Given the description of an element on the screen output the (x, y) to click on. 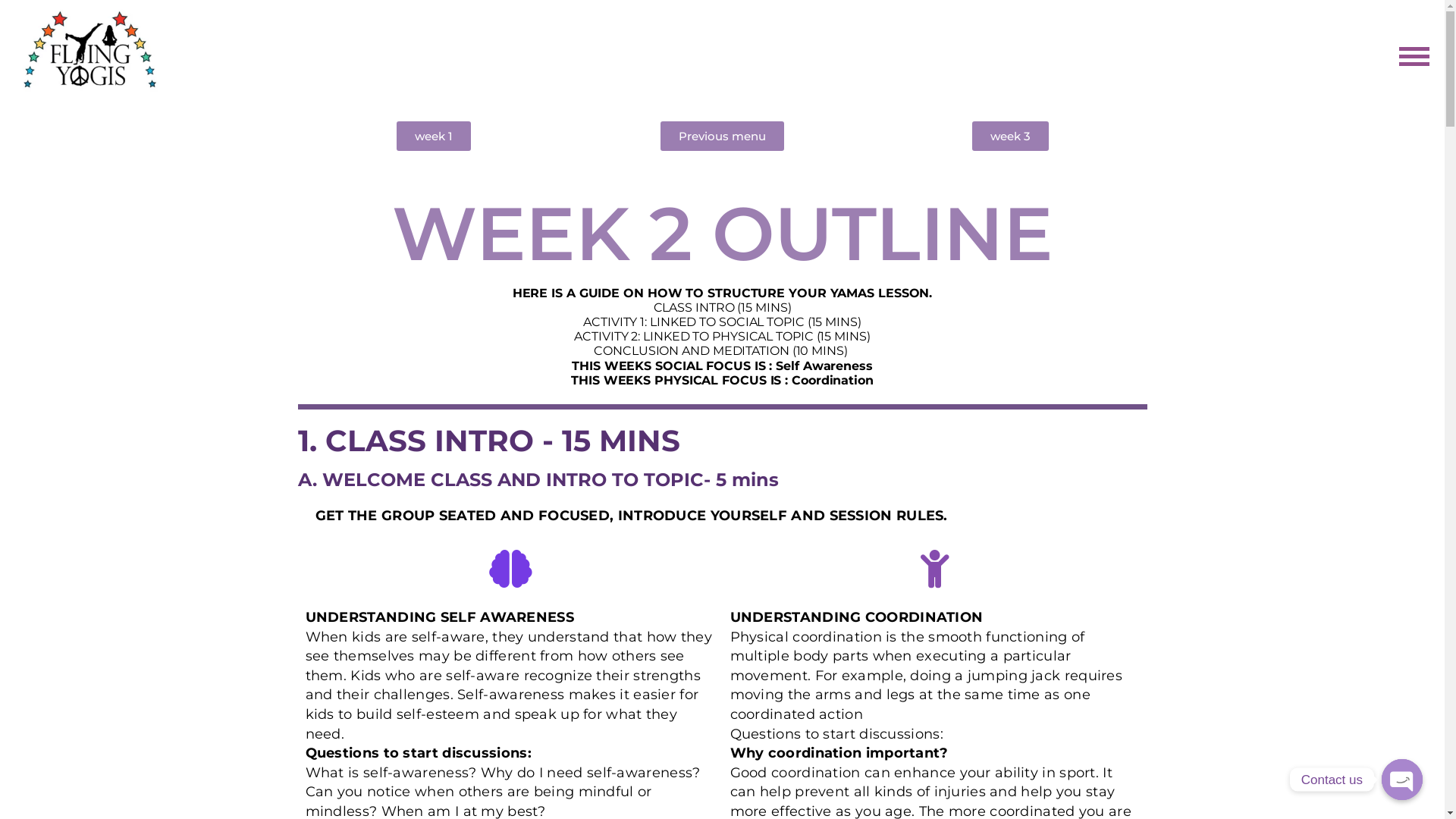
week 3 Element type: text (1010, 135)
Flying Yogis Element type: text (217, 65)
Previous menu Element type: text (722, 135)
week 1 Element type: text (433, 135)
